Given the description of an element on the screen output the (x, y) to click on. 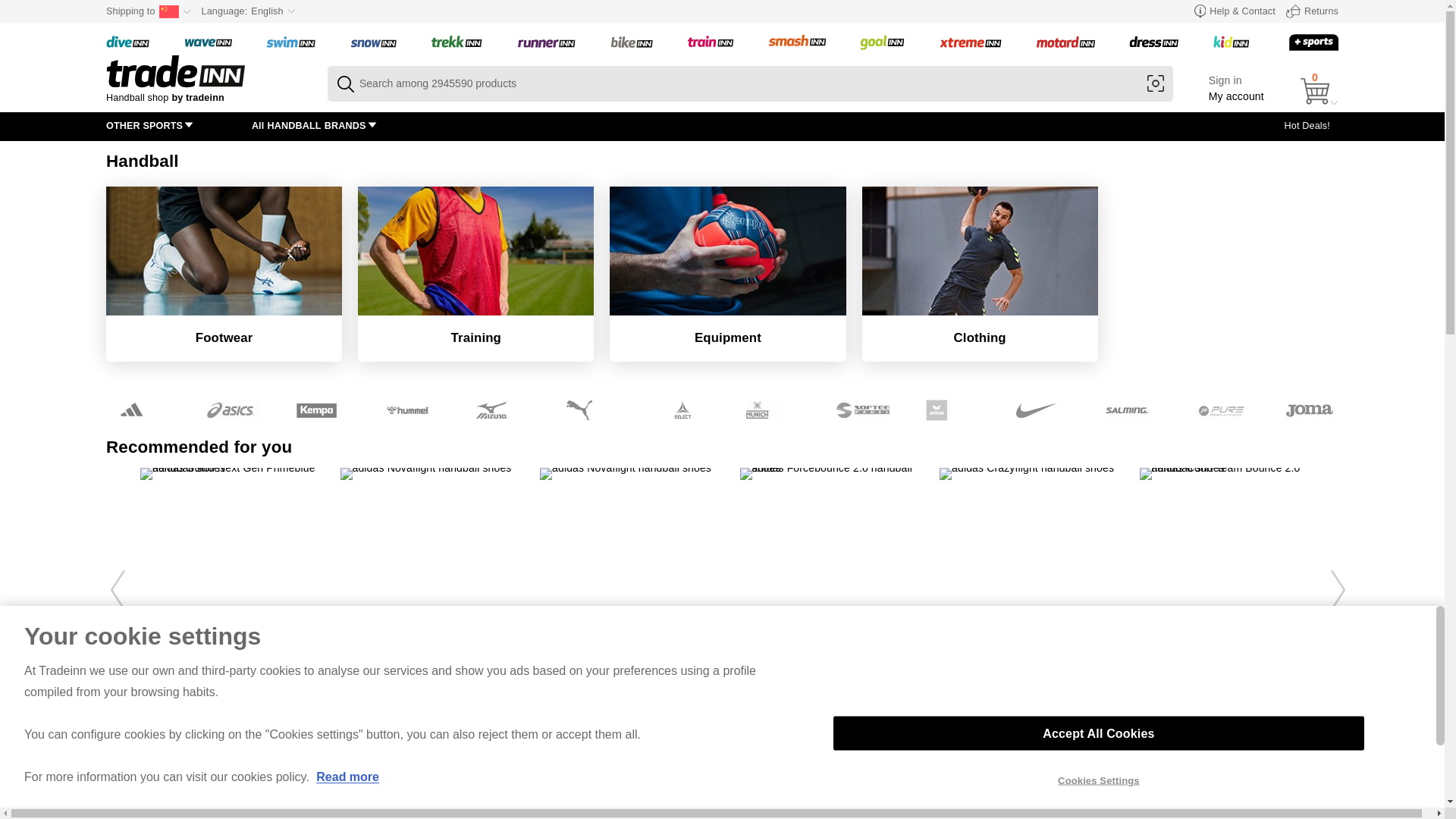
Returns (1311, 11)
